Given the description of an element on the screen output the (x, y) to click on. 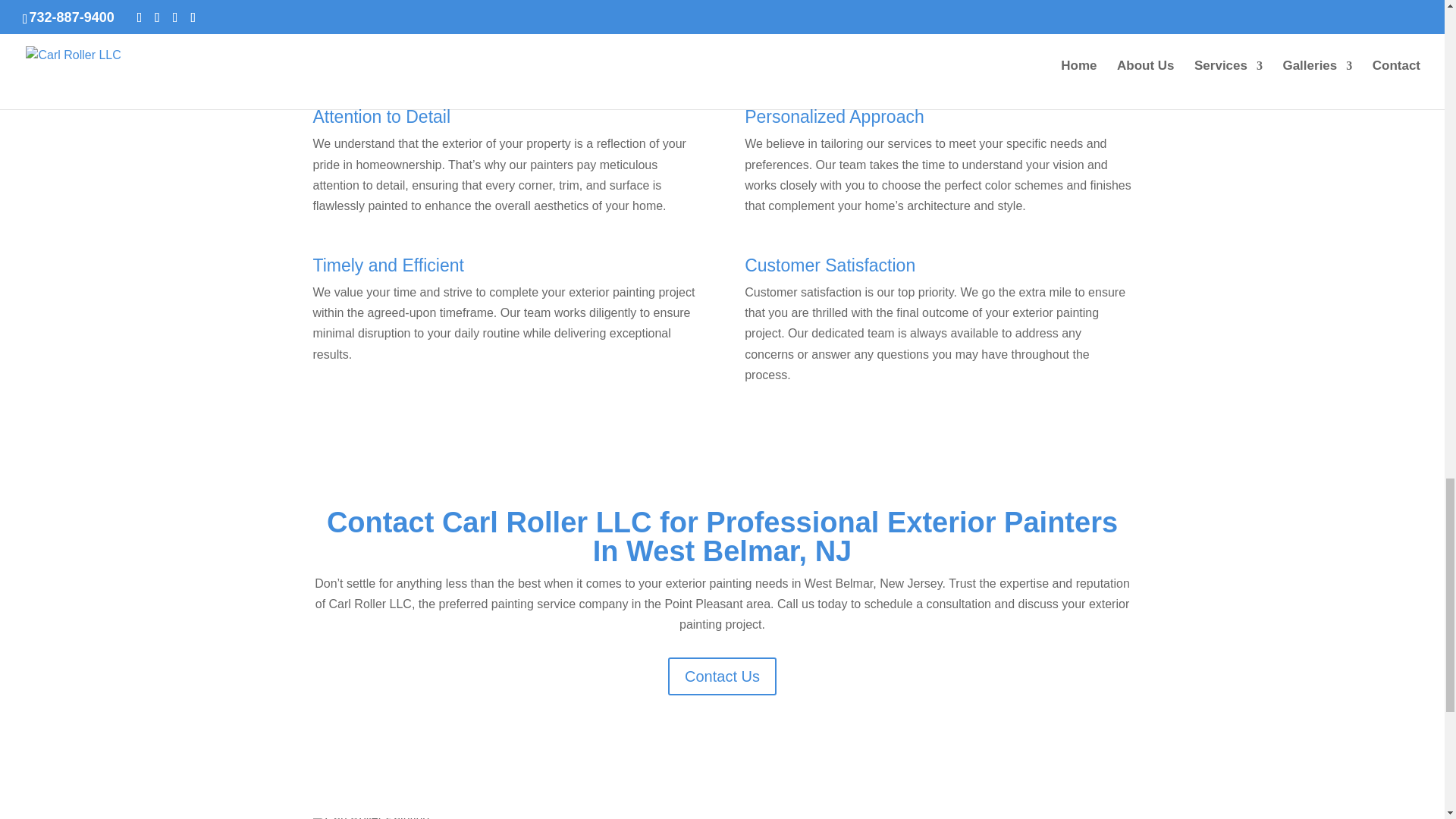
Contact Us (722, 676)
